Given the description of an element on the screen output the (x, y) to click on. 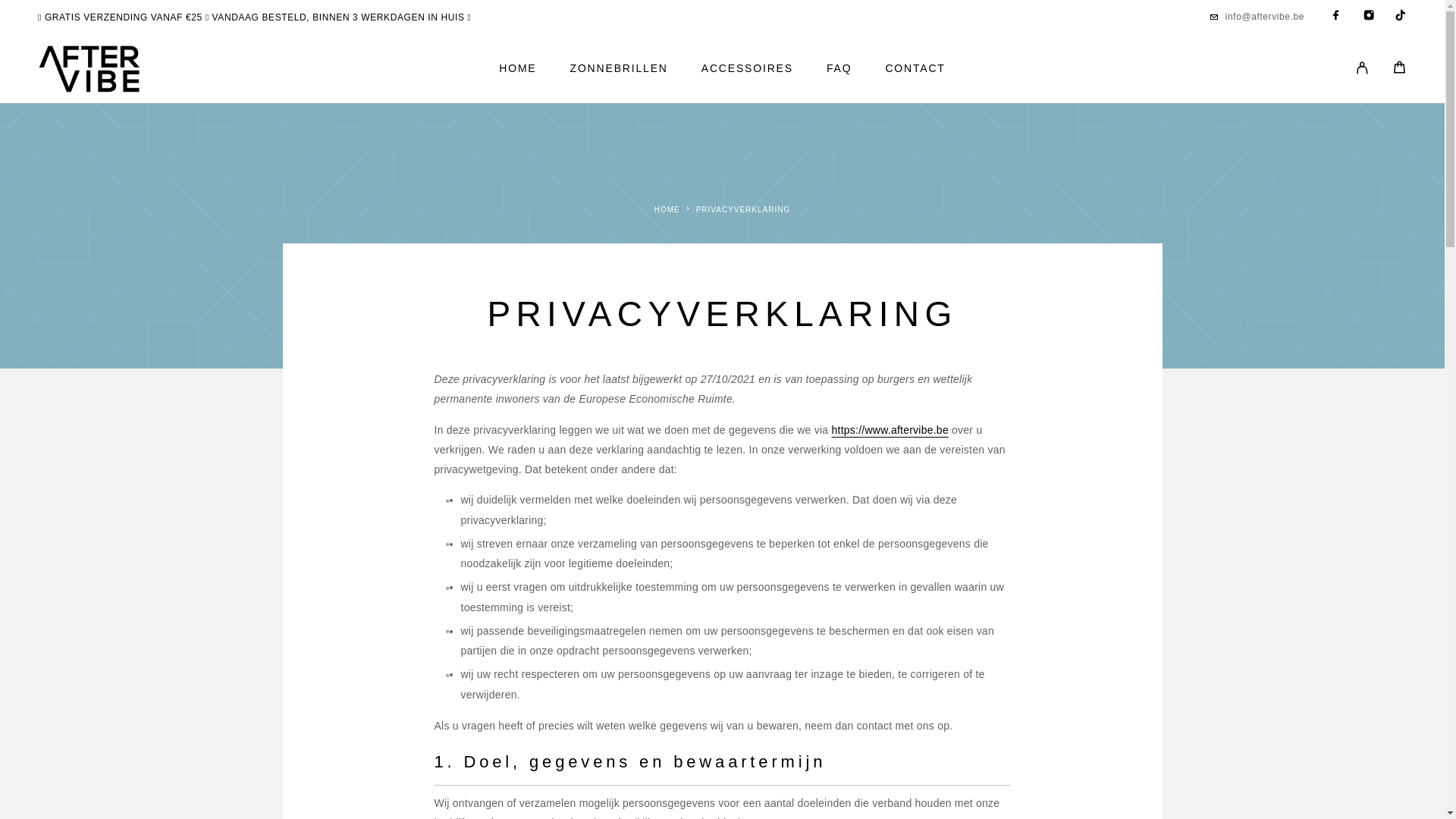
CONTACT Element type: text (914, 68)
info@aftervibe.be Element type: text (1264, 16)
HOME Element type: text (667, 209)
HOME Element type: text (517, 68)
FAQ Element type: text (838, 68)
Login Element type: hover (1361, 68)
ACCESSOIRES Element type: text (747, 68)
https://www.aftervibe.be Element type: text (889, 429)
ZONNEBRILLEN Element type: text (619, 68)
